Given the description of an element on the screen output the (x, y) to click on. 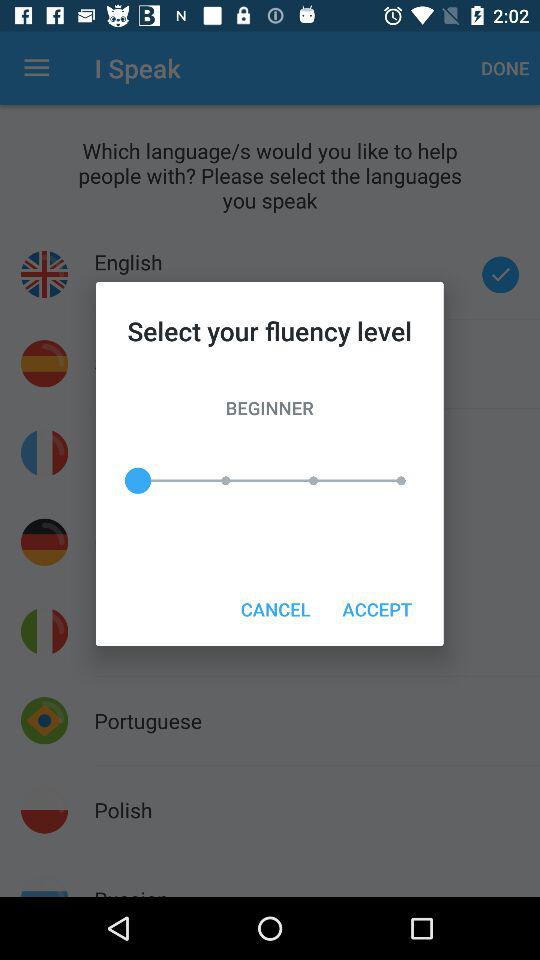
swipe until cancel (275, 608)
